Given the description of an element on the screen output the (x, y) to click on. 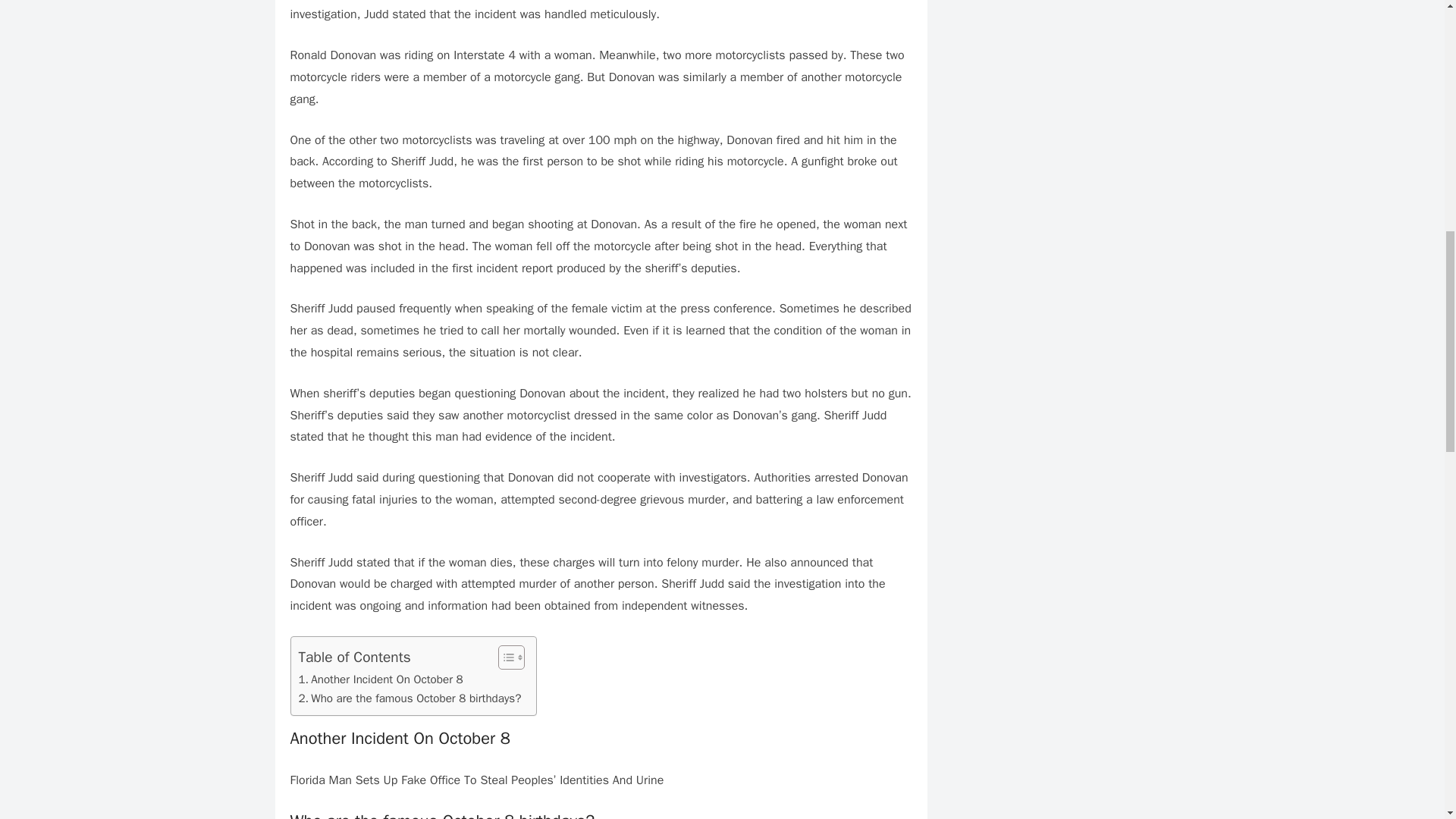
Who are the famous October 8 birthdays? (409, 698)
Who are the famous October 8 birthdays? (409, 698)
Another Incident On October 8 (380, 679)
Another Incident On October 8 (380, 679)
